Given the description of an element on the screen output the (x, y) to click on. 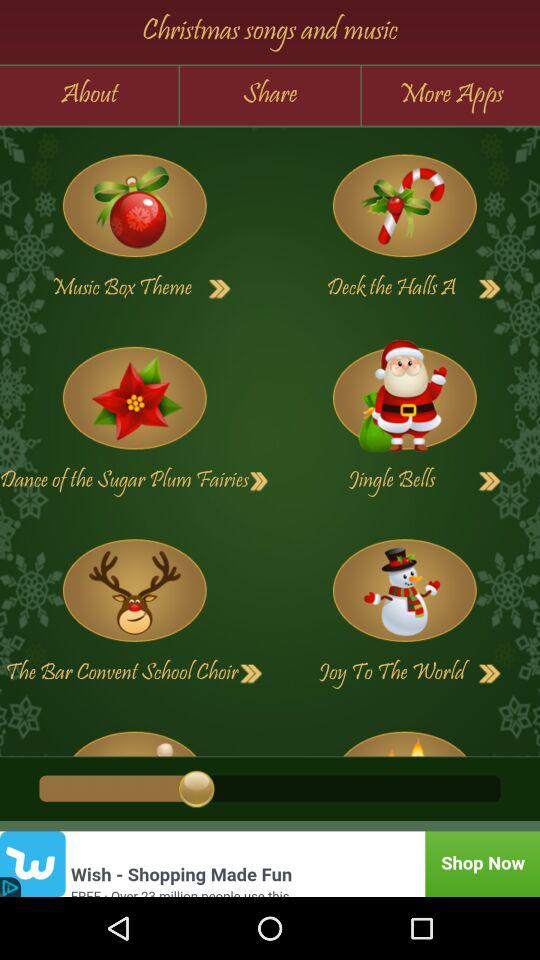
play song (259, 481)
